Given the description of an element on the screen output the (x, y) to click on. 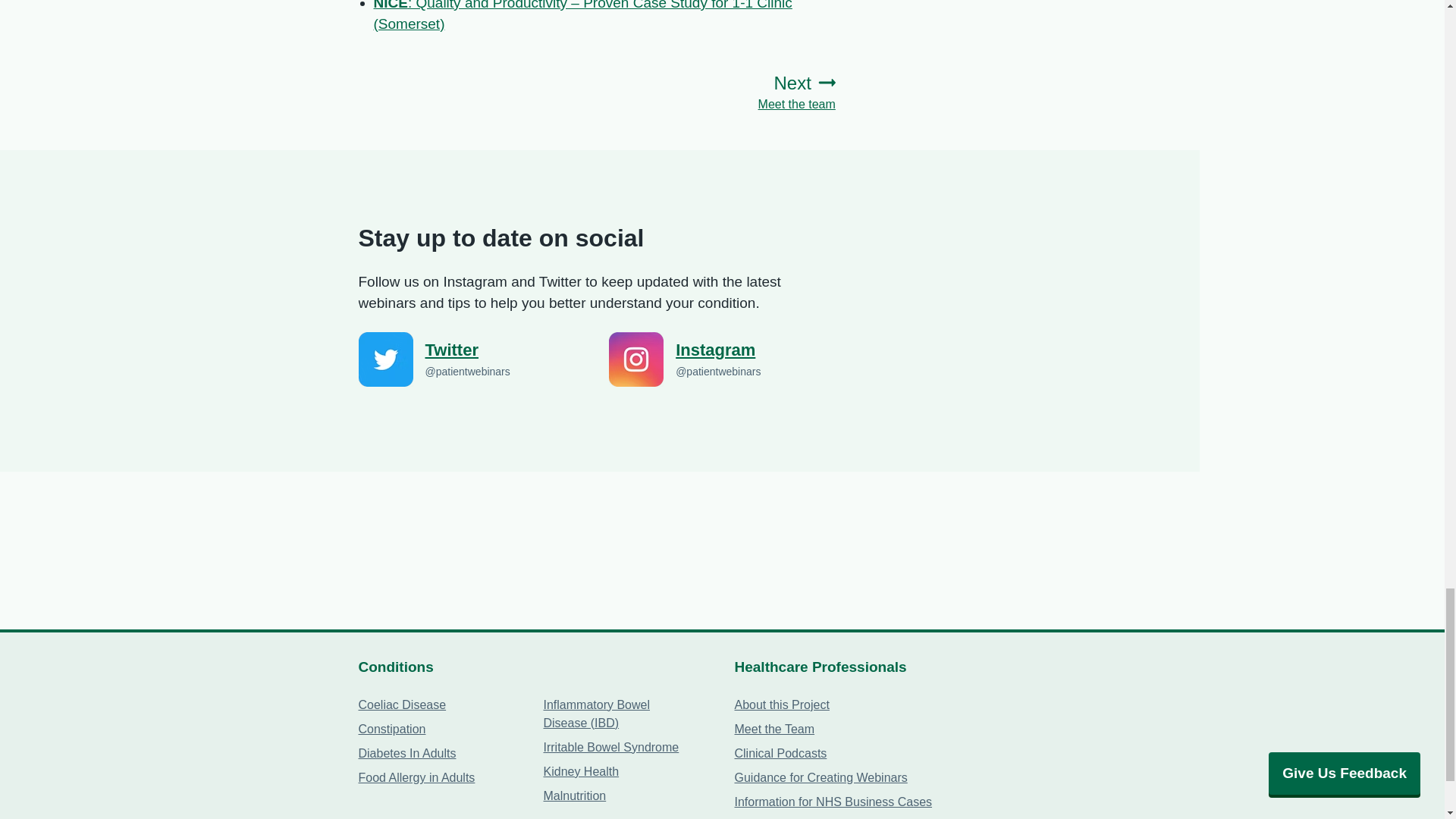
Information for NHS Business Cases (832, 801)
Meet the Team (773, 728)
Diabetes In Adults (406, 753)
Kidney Health (580, 771)
Twitter (505, 350)
Irritable Bowel Syndrome (610, 747)
Constipation (391, 728)
About this Project (780, 704)
Instagram (755, 350)
Coeliac Disease (401, 704)
